Given the description of an element on the screen output the (x, y) to click on. 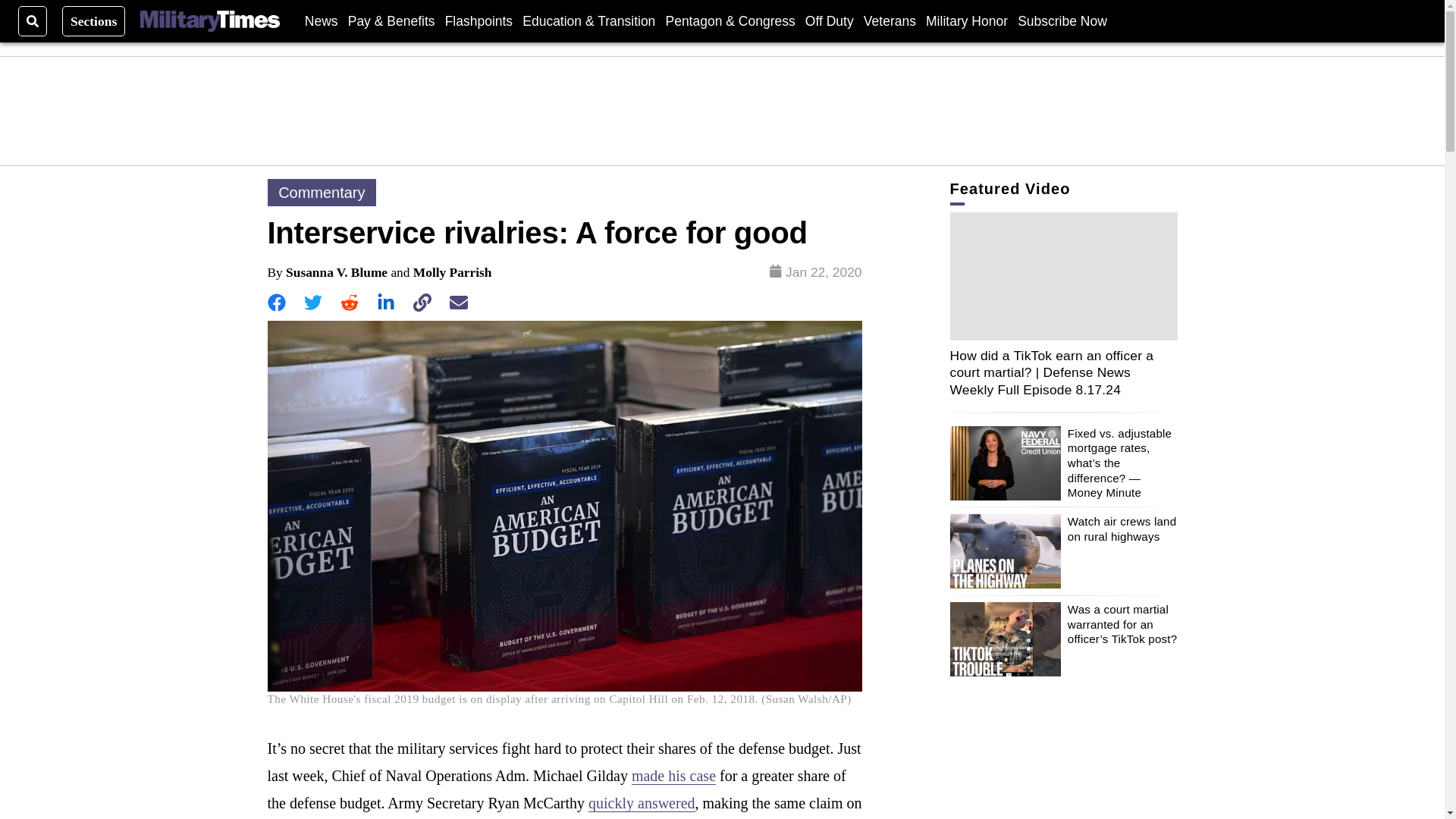
Off Duty (829, 20)
Military Times Logo (209, 20)
Veterans (889, 20)
Flashpoints (479, 20)
Military Honor (966, 20)
Sections (93, 20)
News (320, 20)
